Given the description of an element on the screen output the (x, y) to click on. 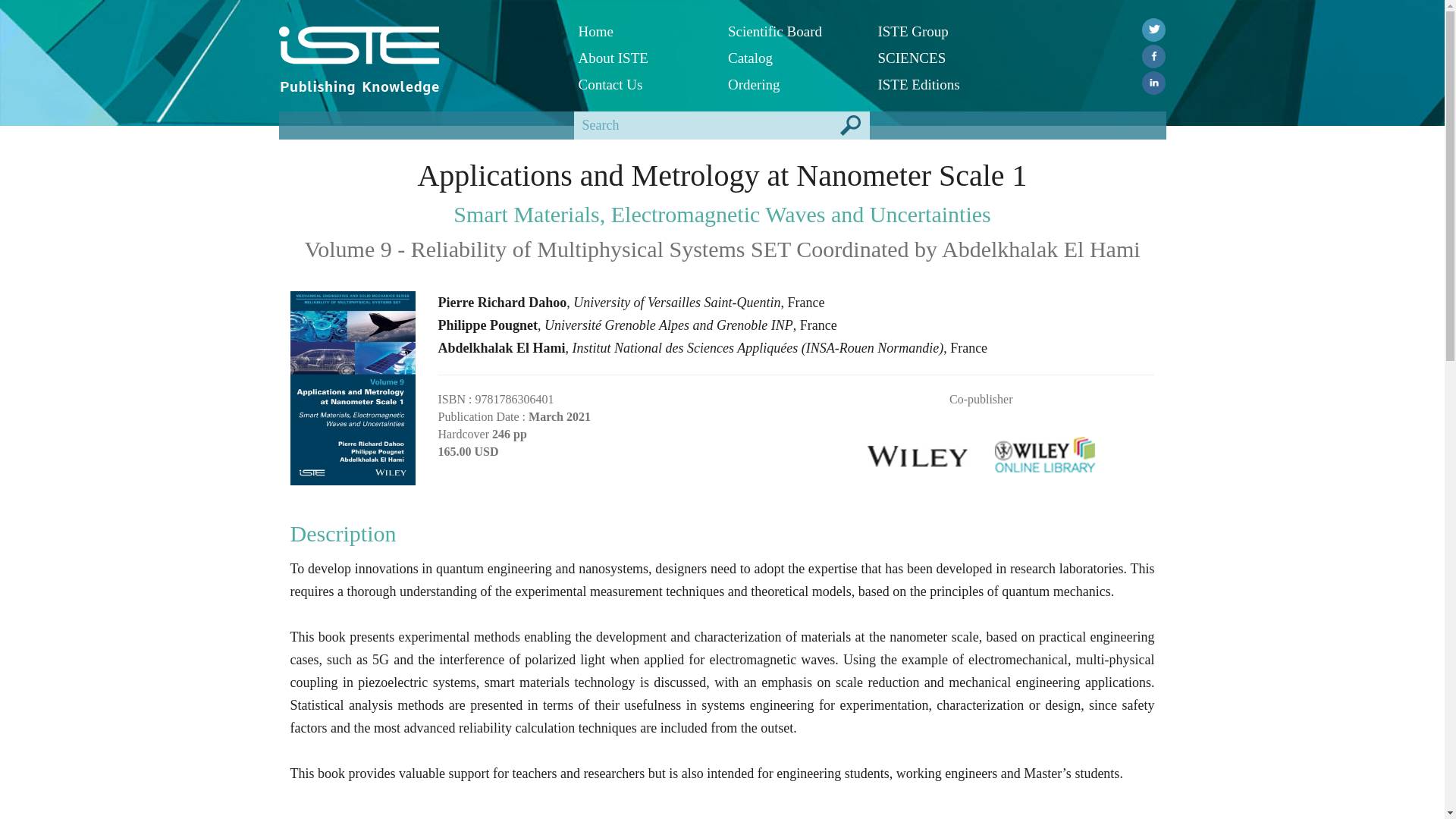
ISTE Editions (940, 84)
Facebook (1153, 56)
Scientific Board (791, 31)
Scientific Board (791, 31)
Catalog PDF (791, 58)
Ordering (791, 84)
ISTE (417, 46)
Contact Us (641, 84)
About ISTE (641, 58)
ISTE Group (940, 31)
